Given the description of an element on the screen output the (x, y) to click on. 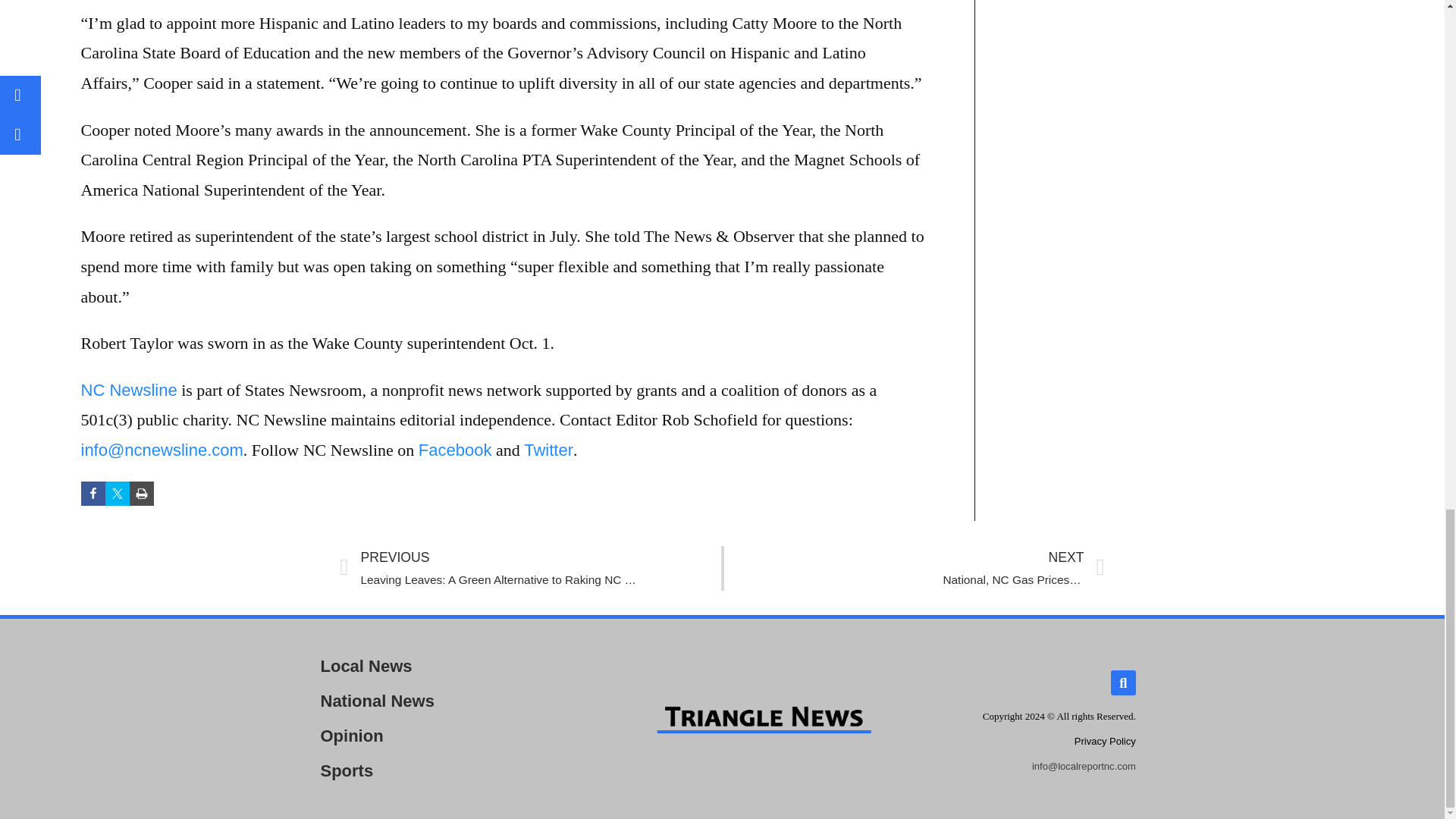
Opinion (438, 736)
National News (438, 701)
Privacy Policy (1104, 740)
Facebook (913, 568)
Print this Page (455, 449)
Sports (140, 493)
Local News (438, 770)
NC Newsline (438, 666)
